Given the description of an element on the screen output the (x, y) to click on. 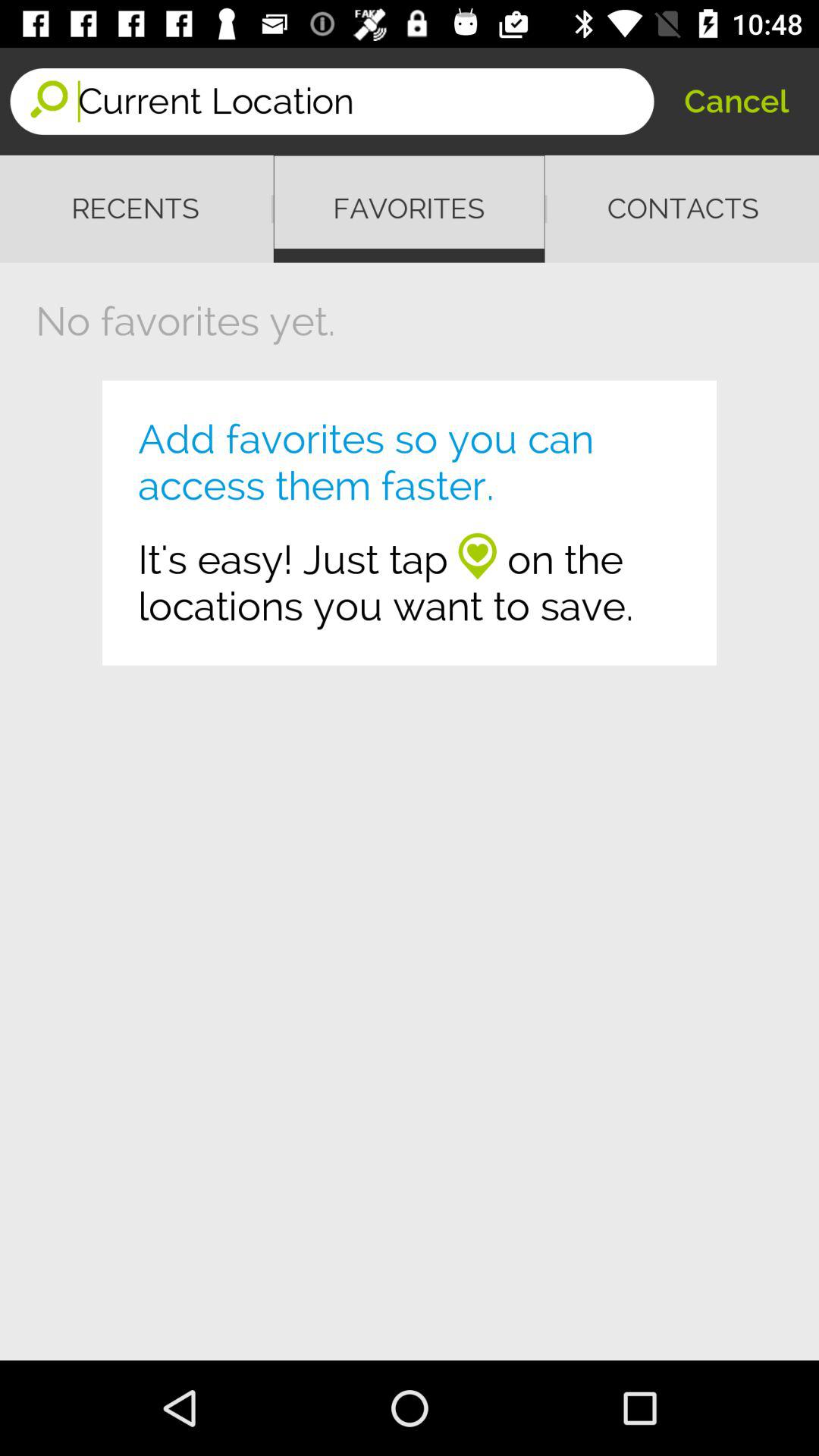
launch the item to the right of the current location (736, 101)
